Given the description of an element on the screen output the (x, y) to click on. 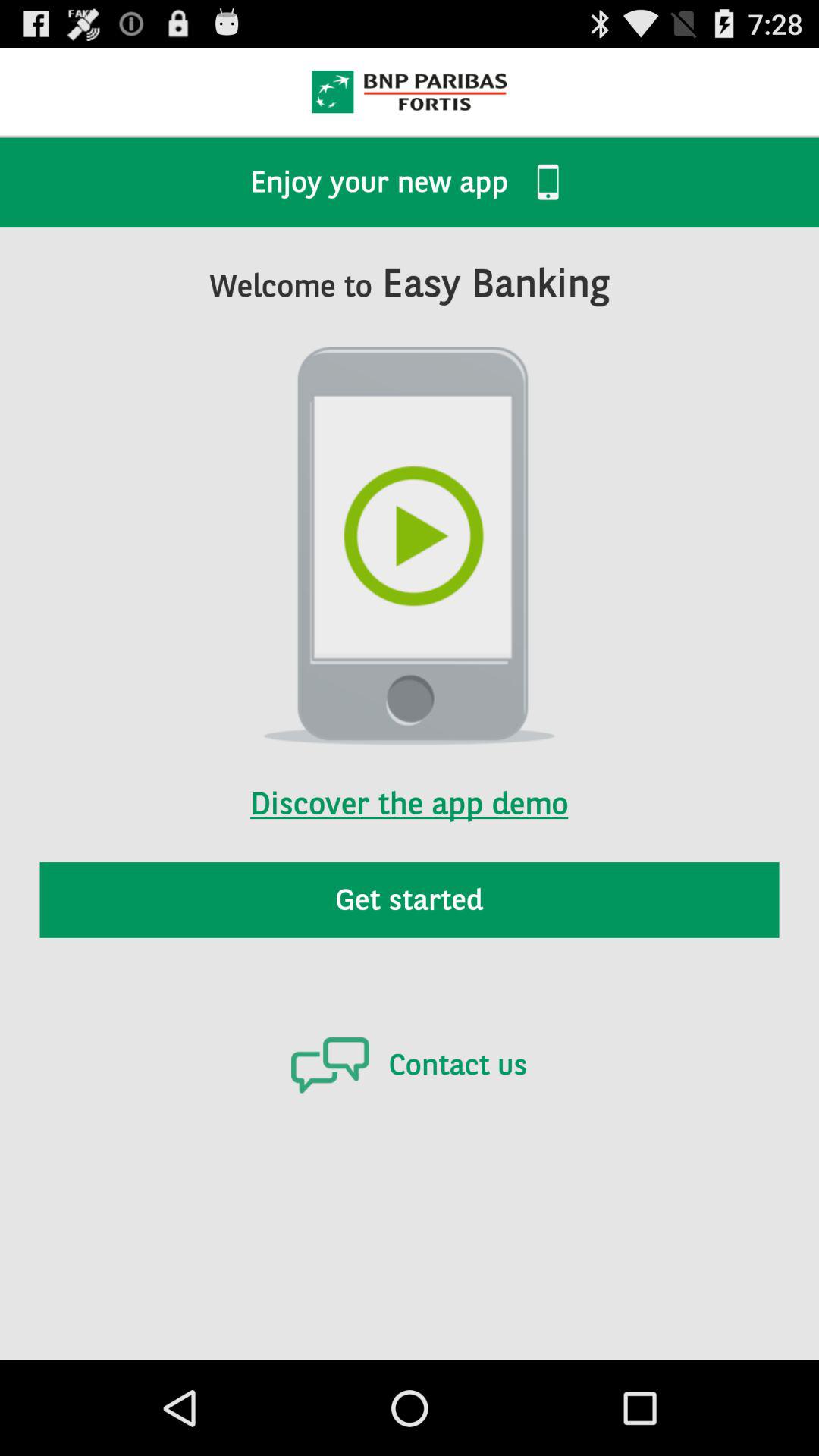
click the item below the discover the app item (409, 899)
